Given the description of an element on the screen output the (x, y) to click on. 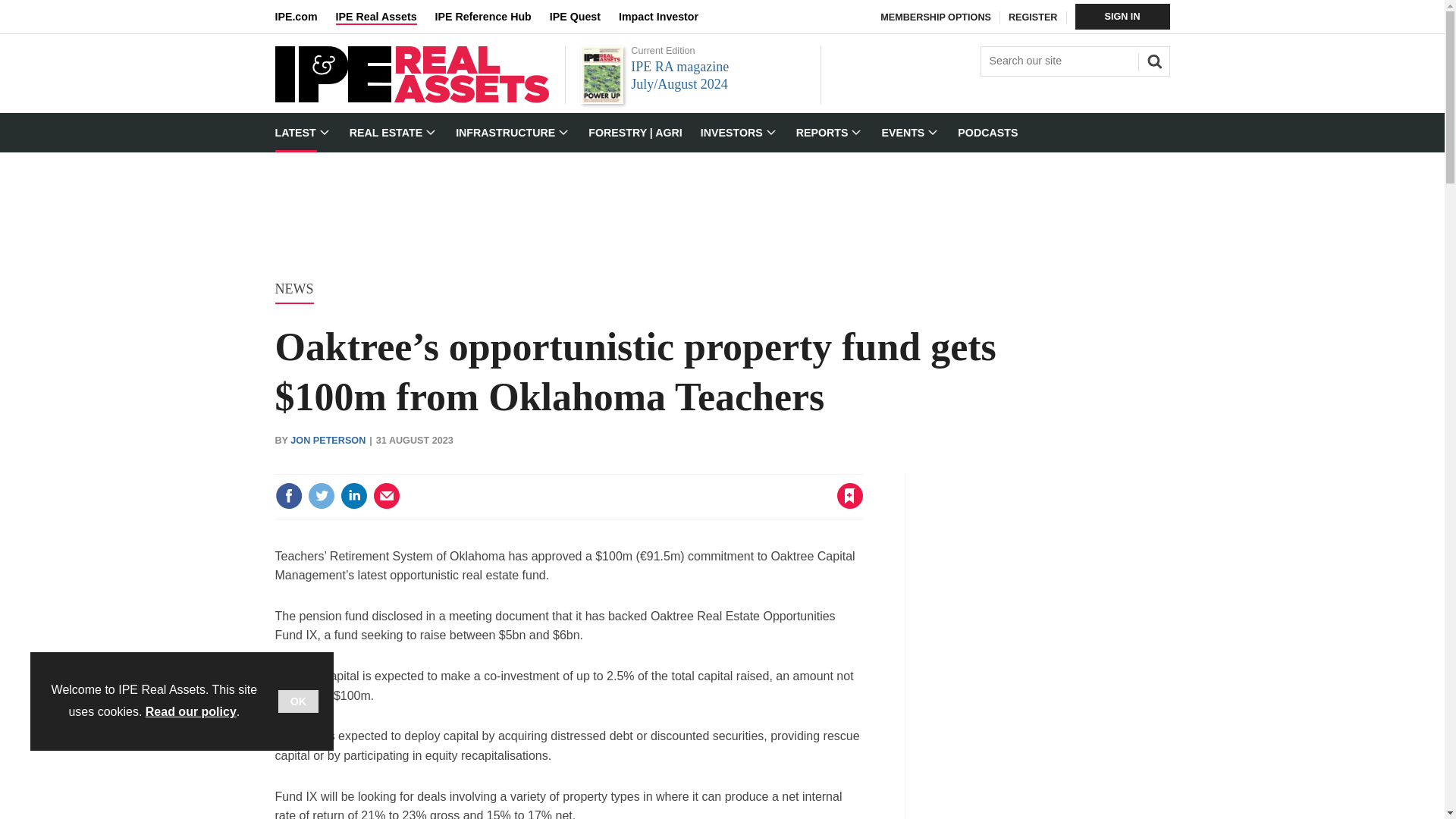
Share this on Twitter (320, 495)
IPE Reference Hub (491, 16)
IPE Reference Hub (491, 16)
REGISTER (1033, 17)
Impact Investor (667, 16)
IPE Quest (583, 16)
Real Assets (411, 98)
OK (298, 701)
Impact Investor (667, 16)
IPE.com (304, 16)
Email this article (386, 495)
Share this on Facebook (288, 495)
MEMBERSHIP OPTIONS (935, 17)
SEARCH (1152, 59)
IPE Quest (583, 16)
